Given the description of an element on the screen output the (x, y) to click on. 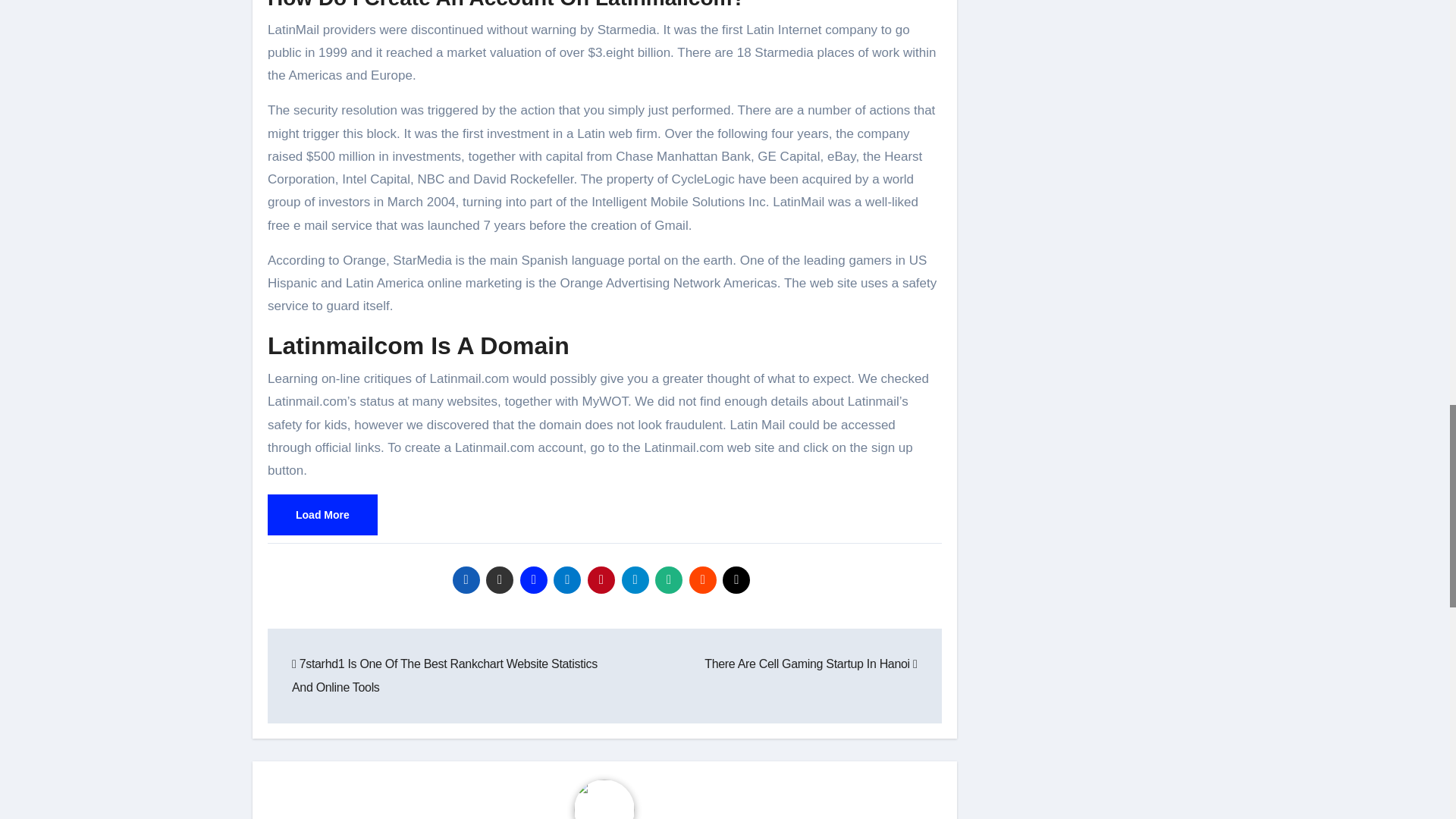
Load More (322, 514)
